Given the description of an element on the screen output the (x, y) to click on. 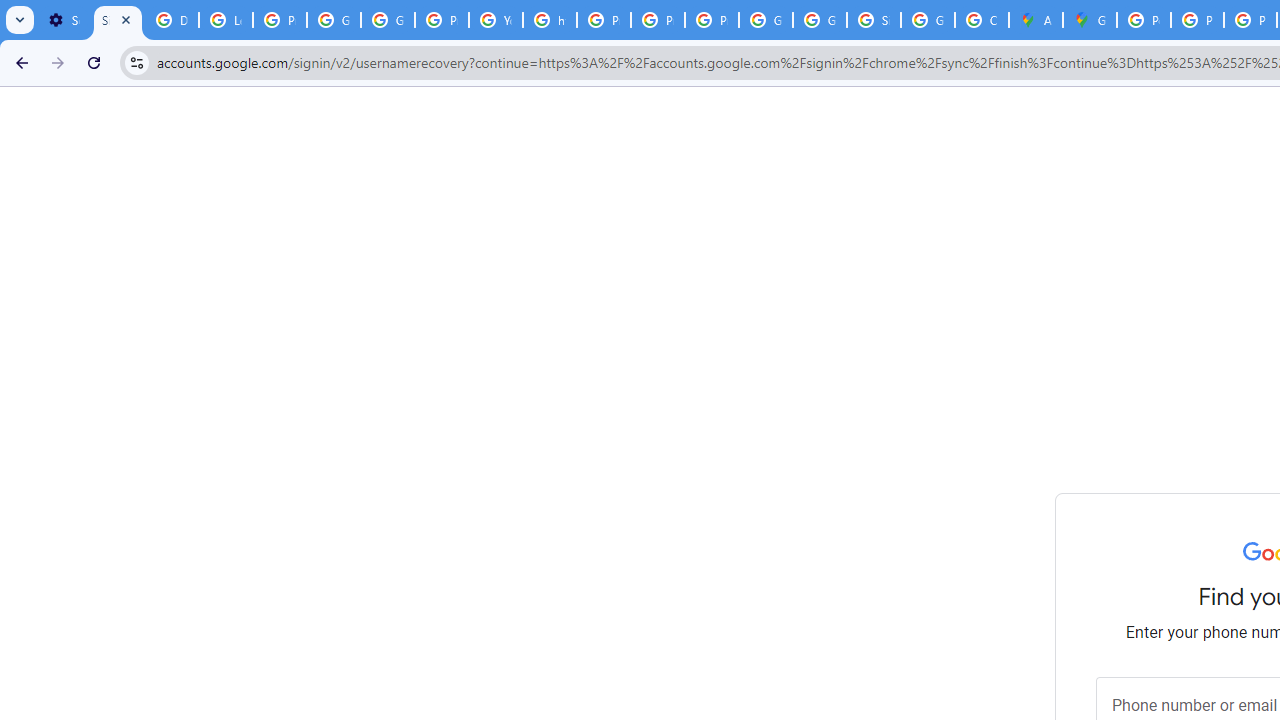
Settings - On startup (63, 20)
Sign in - Google Accounts (117, 20)
Reload (93, 62)
Forward (57, 62)
Policy Accountability and Transparency - Transparency Center (1144, 20)
View site information (136, 62)
Google Maps (1089, 20)
Search tabs (20, 20)
